Given the description of an element on the screen output the (x, y) to click on. 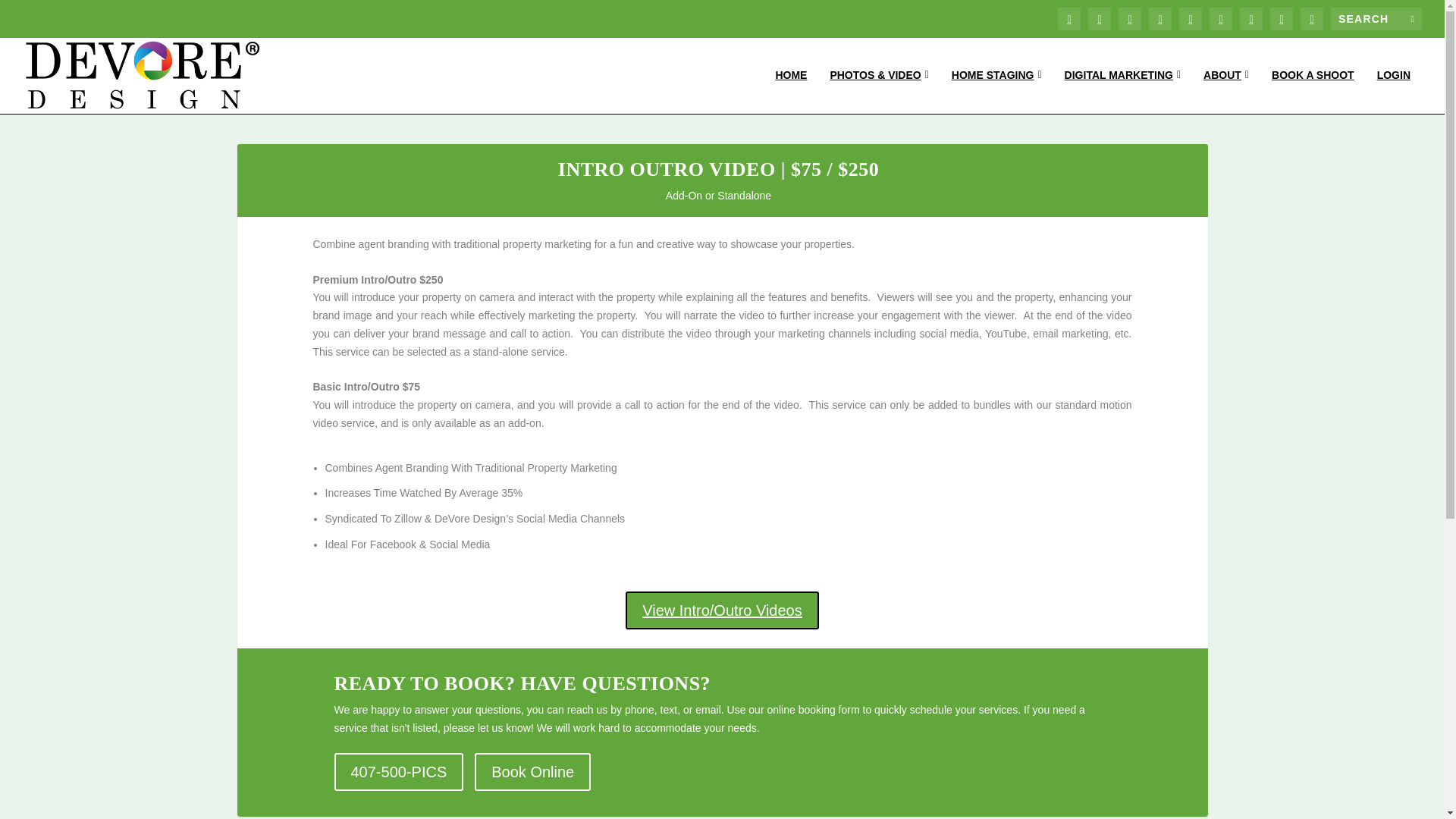
HOME STAGING (997, 90)
ABOUT (1226, 90)
Search for: (1376, 18)
HOME (790, 90)
LOGIN (1393, 90)
DIGITAL MARKETING (1122, 90)
BOOK A SHOOT (1312, 90)
